Given the description of an element on the screen output the (x, y) to click on. 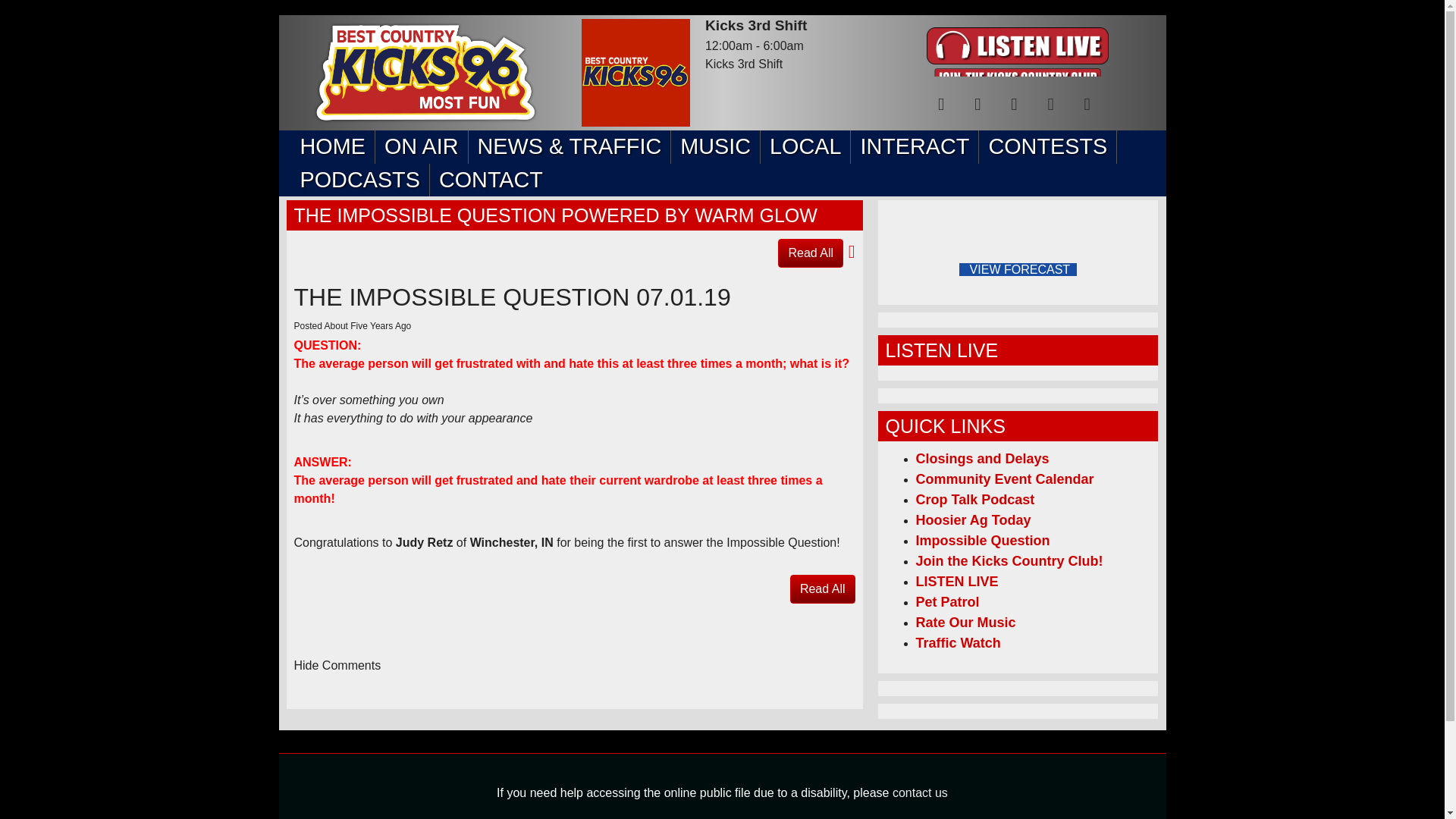
Read All (810, 253)
ON AIR (421, 146)
INTERACT (914, 146)
HOME (332, 146)
MUSIC (715, 146)
LOCAL (805, 146)
